Given the description of an element on the screen output the (x, y) to click on. 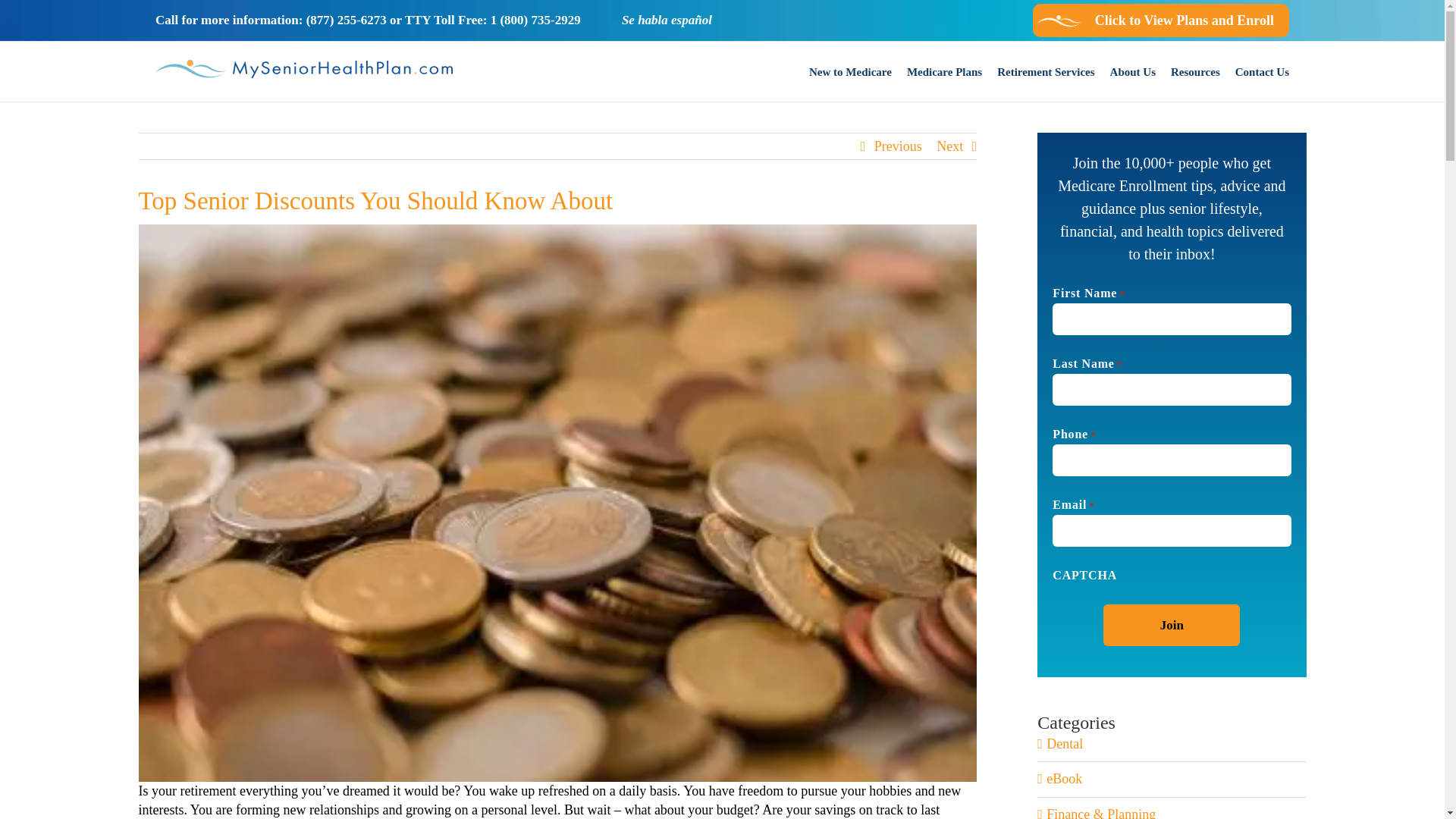
New to Medicare (850, 70)
Retirement Services (1045, 70)
Click to View Plans and Enroll (1160, 20)
Join (1171, 625)
Medicare Plans (944, 70)
